Given the description of an element on the screen output the (x, y) to click on. 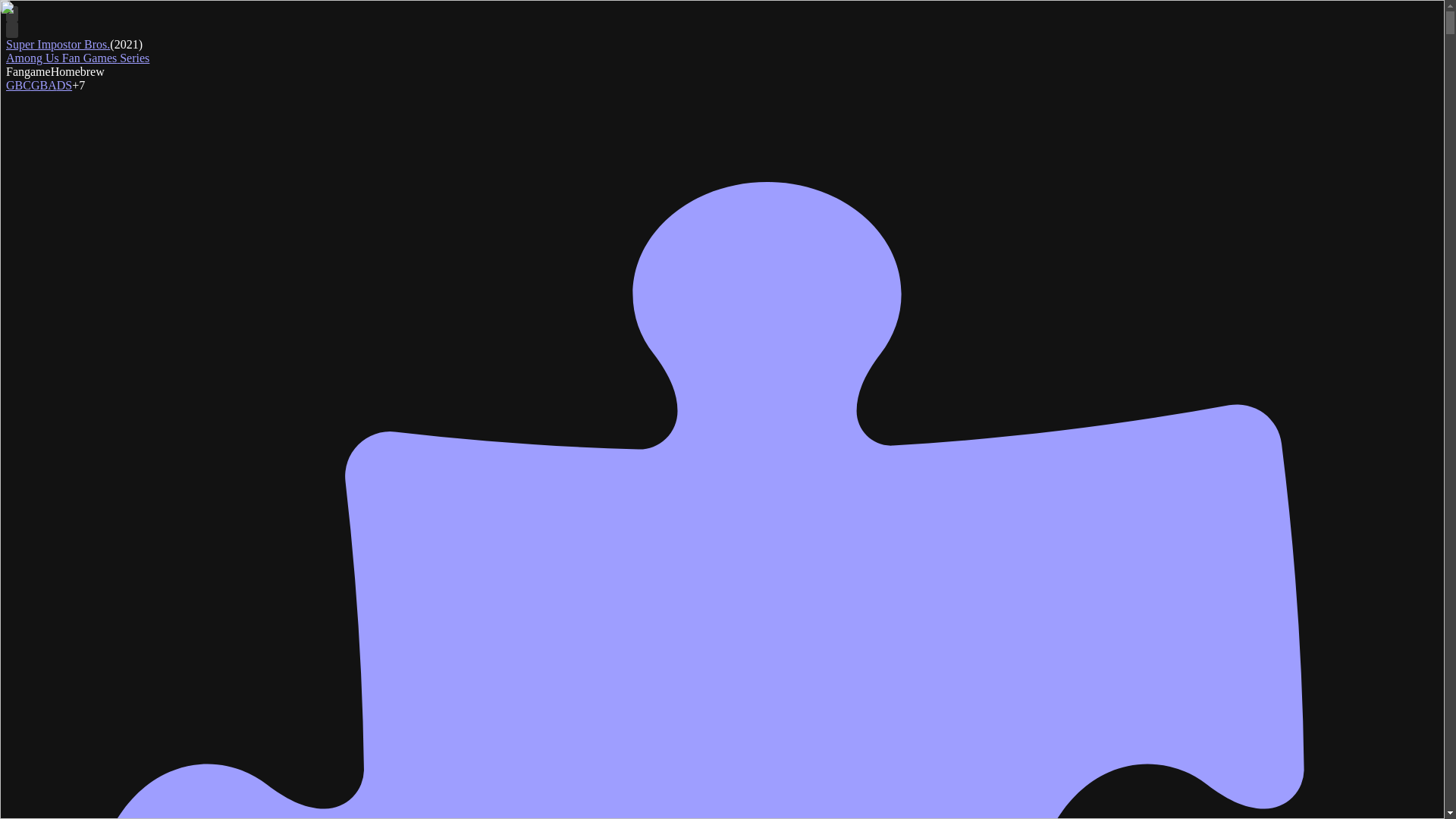
GBA (43, 84)
DS (63, 84)
Super Impostor Bros. (57, 43)
GBC (17, 84)
Among Us Fan Games Series (77, 57)
